Given the description of an element on the screen output the (x, y) to click on. 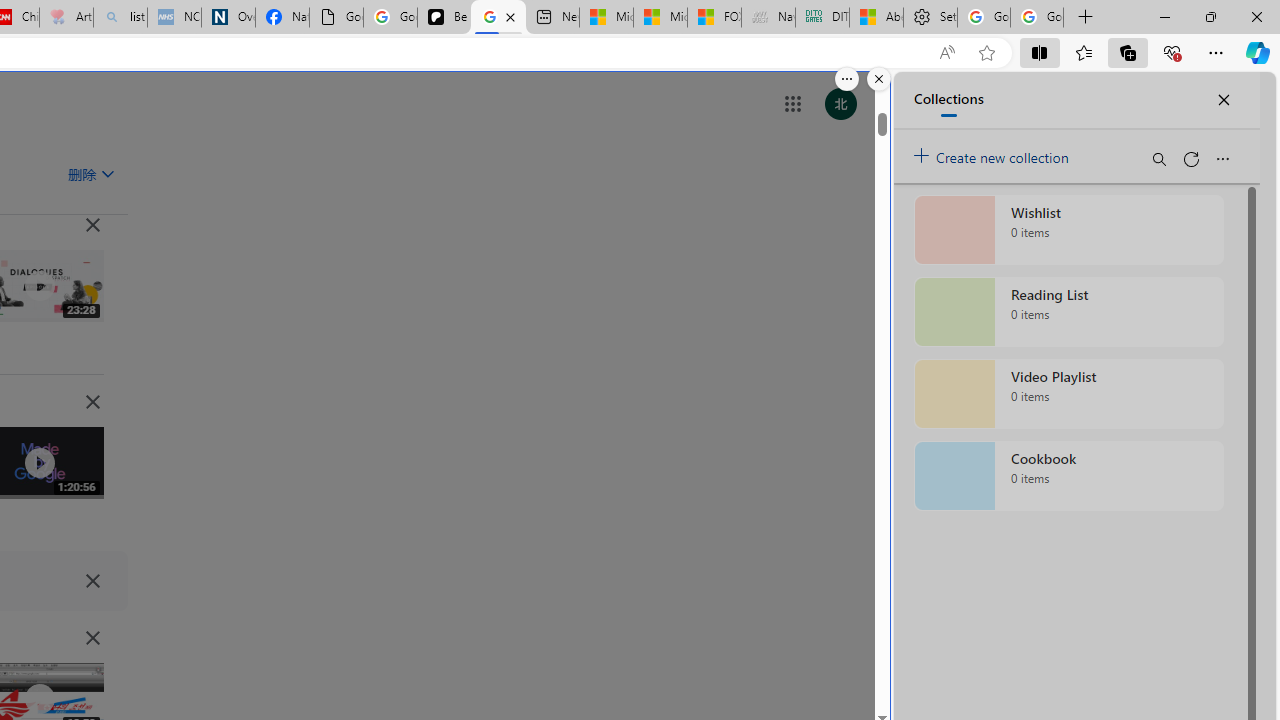
Close split screen. (878, 79)
More options. (846, 79)
Google Analytics Opt-out Browser Add-on Download Page (336, 17)
Arthritis: Ask Health Professionals - Sleeping (66, 17)
